Given the description of an element on the screen output the (x, y) to click on. 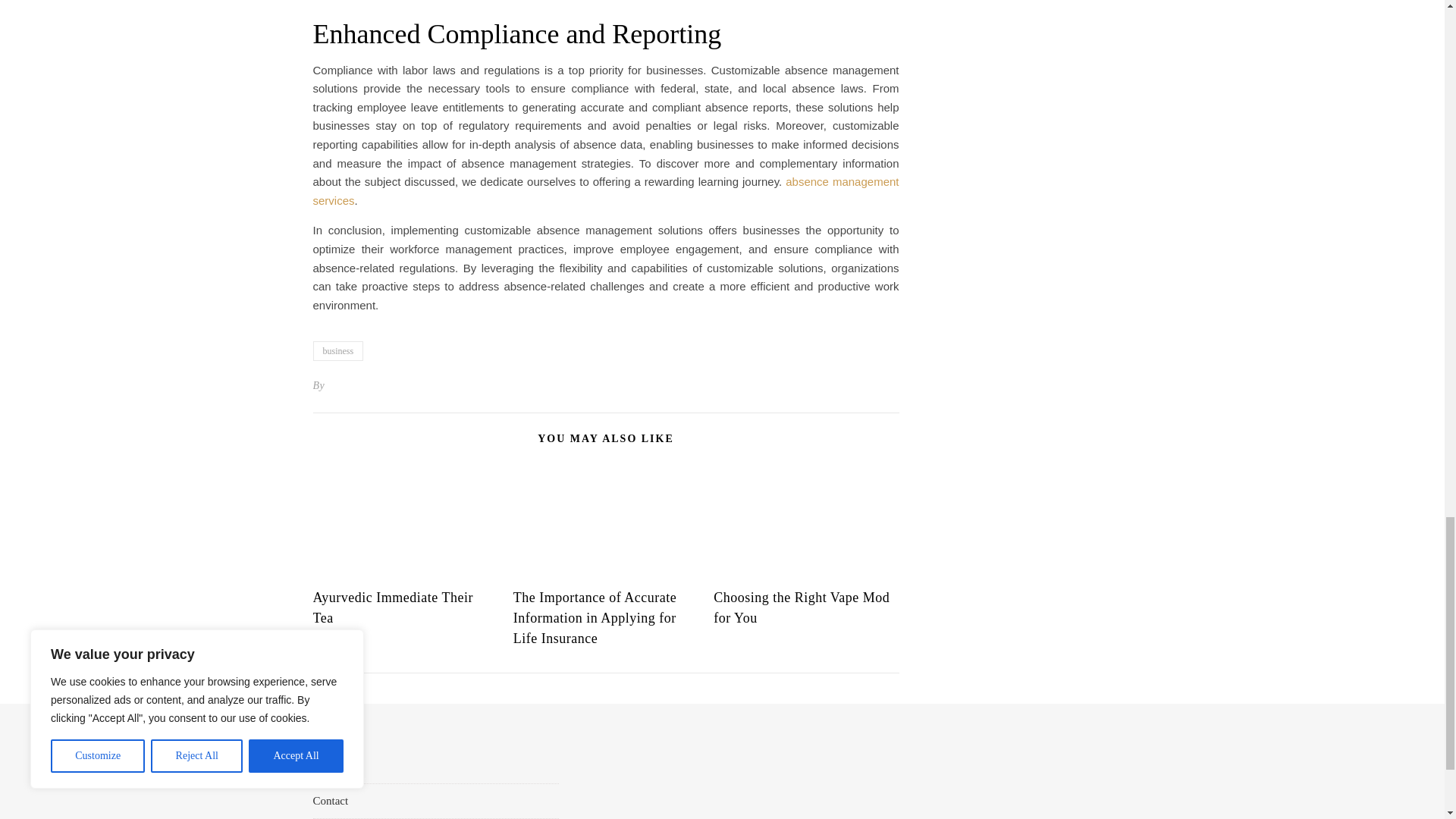
business (337, 351)
absence management services (605, 191)
Ayurvedic Immediate Their Tea (392, 607)
